Given the description of an element on the screen output the (x, y) to click on. 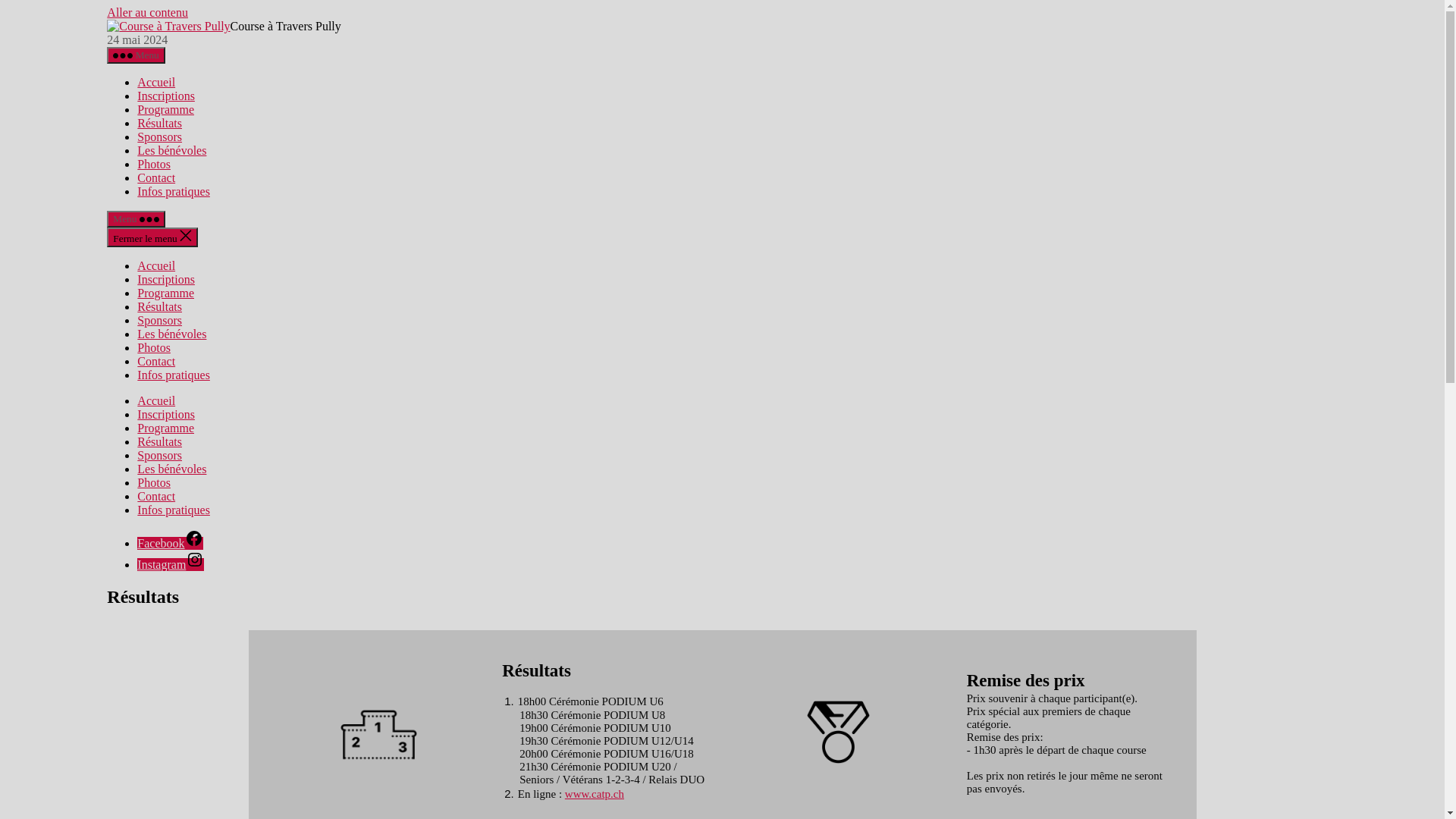
Menu Element type: text (135, 218)
Photos Element type: text (153, 347)
Instagram Element type: text (170, 564)
Sponsors Element type: text (159, 454)
Aller au contenu Element type: text (147, 12)
Accueil Element type: text (156, 265)
Fermer le menu Element type: text (151, 237)
Sponsors Element type: text (159, 319)
Accueil Element type: text (156, 400)
Infos pratiques Element type: text (173, 191)
Programme Element type: text (165, 427)
Menu Element type: text (135, 55)
Photos Element type: text (153, 163)
Accueil Element type: text (156, 81)
Programme Element type: text (165, 109)
www.catp.ch Element type: text (594, 793)
Inscriptions Element type: text (165, 279)
Inscriptions Element type: text (165, 413)
Inscriptions Element type: text (165, 95)
Photos Element type: text (153, 482)
Contact Element type: text (156, 495)
Sponsors Element type: text (159, 136)
Infos pratiques Element type: text (173, 509)
Contact Element type: text (156, 177)
Facebook Element type: text (169, 542)
Infos pratiques Element type: text (173, 374)
Contact Element type: text (156, 360)
Programme Element type: text (165, 292)
